Given the description of an element on the screen output the (x, y) to click on. 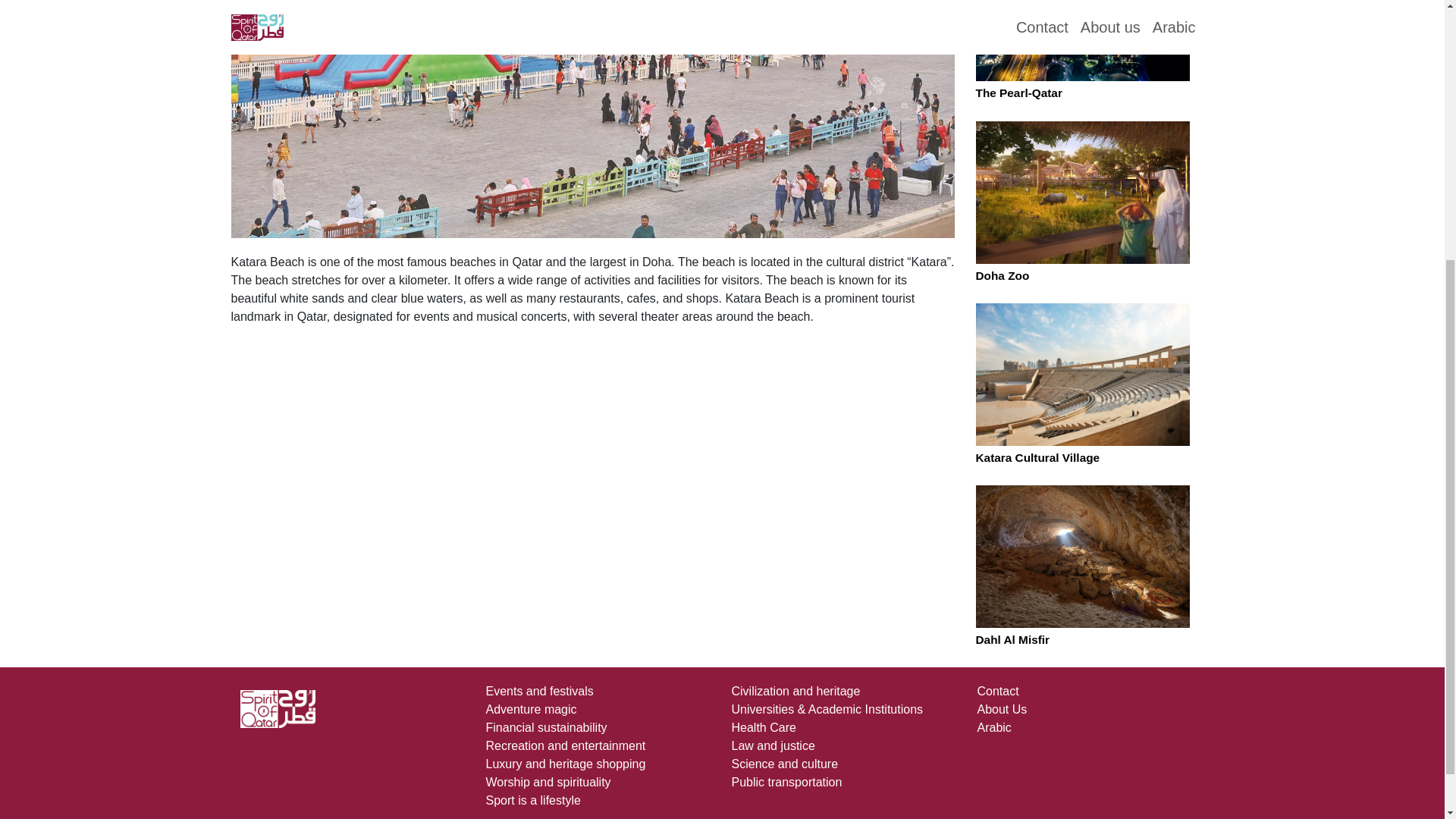
Dahl Al Misfir (1012, 639)
Recreation and entertainment (564, 745)
Arabic (993, 727)
Health Care (762, 727)
Events and festivals (538, 690)
Katara Cultural Village (1037, 457)
Worship and spirituality (547, 781)
Public transportation (785, 781)
Contact (996, 690)
Financial sustainability (545, 727)
